Given the description of an element on the screen output the (x, y) to click on. 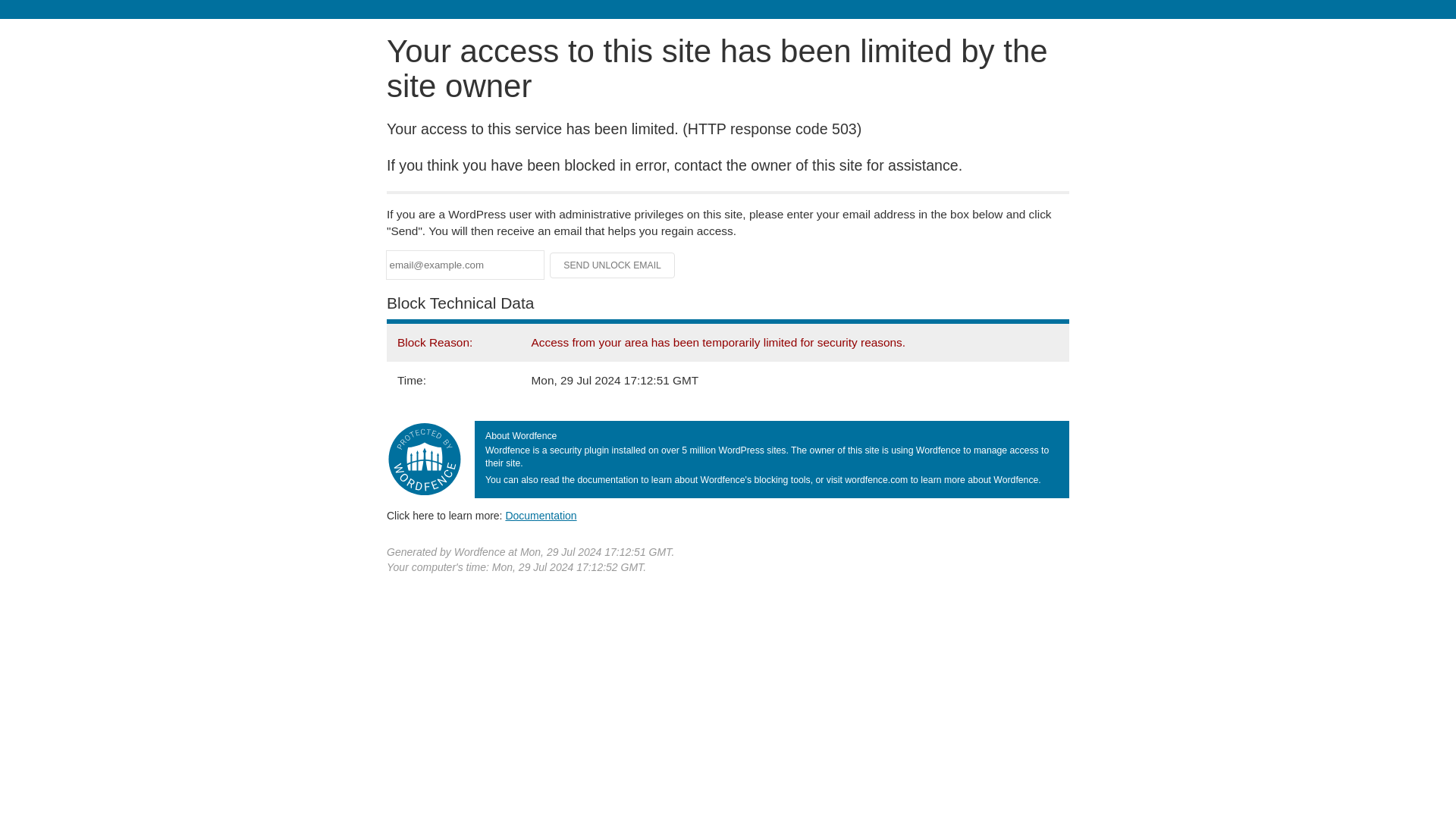
Send Unlock Email (612, 265)
Documentation (540, 515)
Send Unlock Email (612, 265)
